Given the description of an element on the screen output the (x, y) to click on. 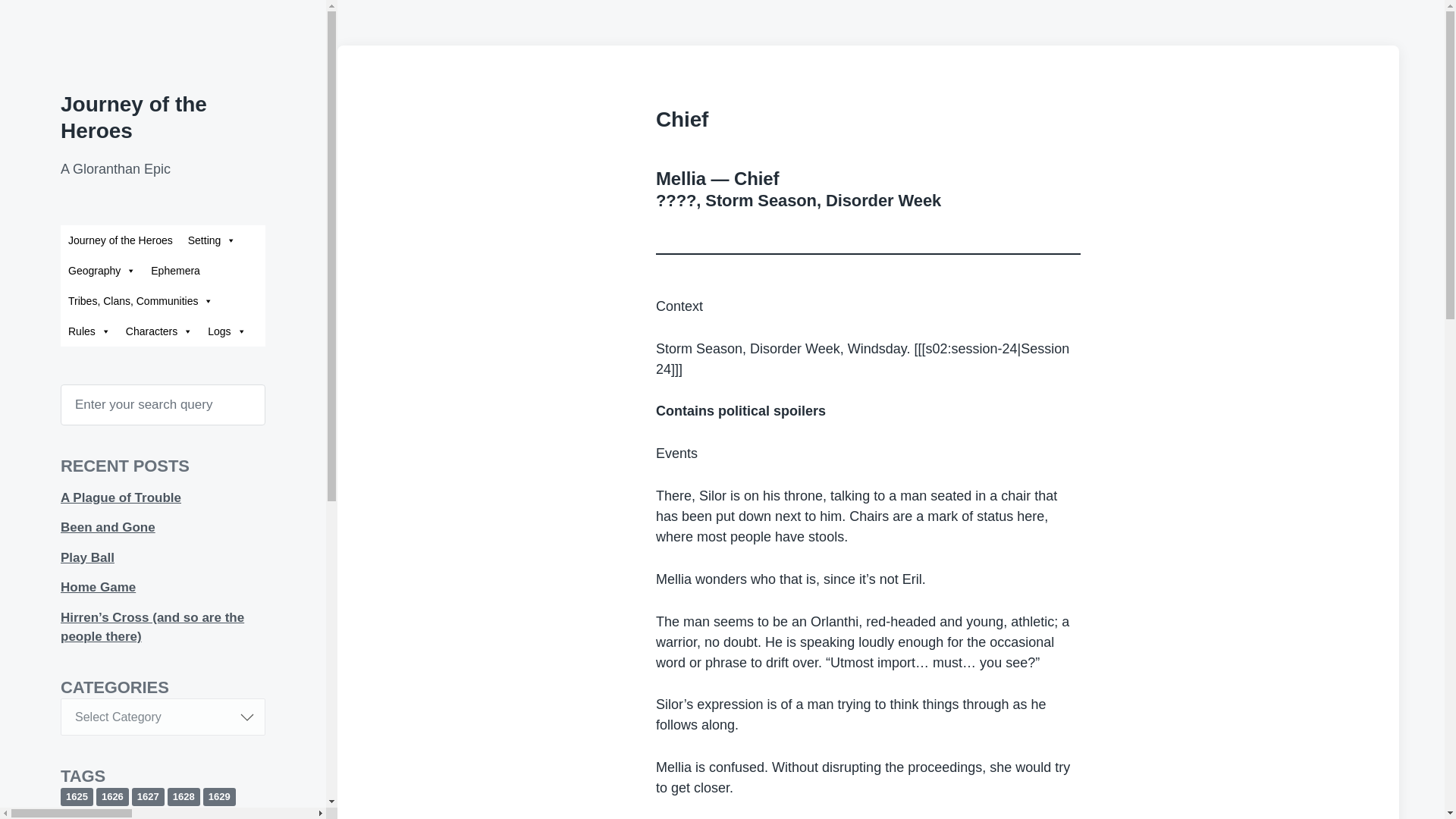
Tribes, Clans, Communities (141, 300)
Characters (158, 331)
Journey of the Heroes (133, 117)
Ephemera (175, 270)
Geography (101, 270)
Setting (212, 240)
Rules (89, 331)
Journey of the Heroes (120, 240)
